Given the description of an element on the screen output the (x, y) to click on. 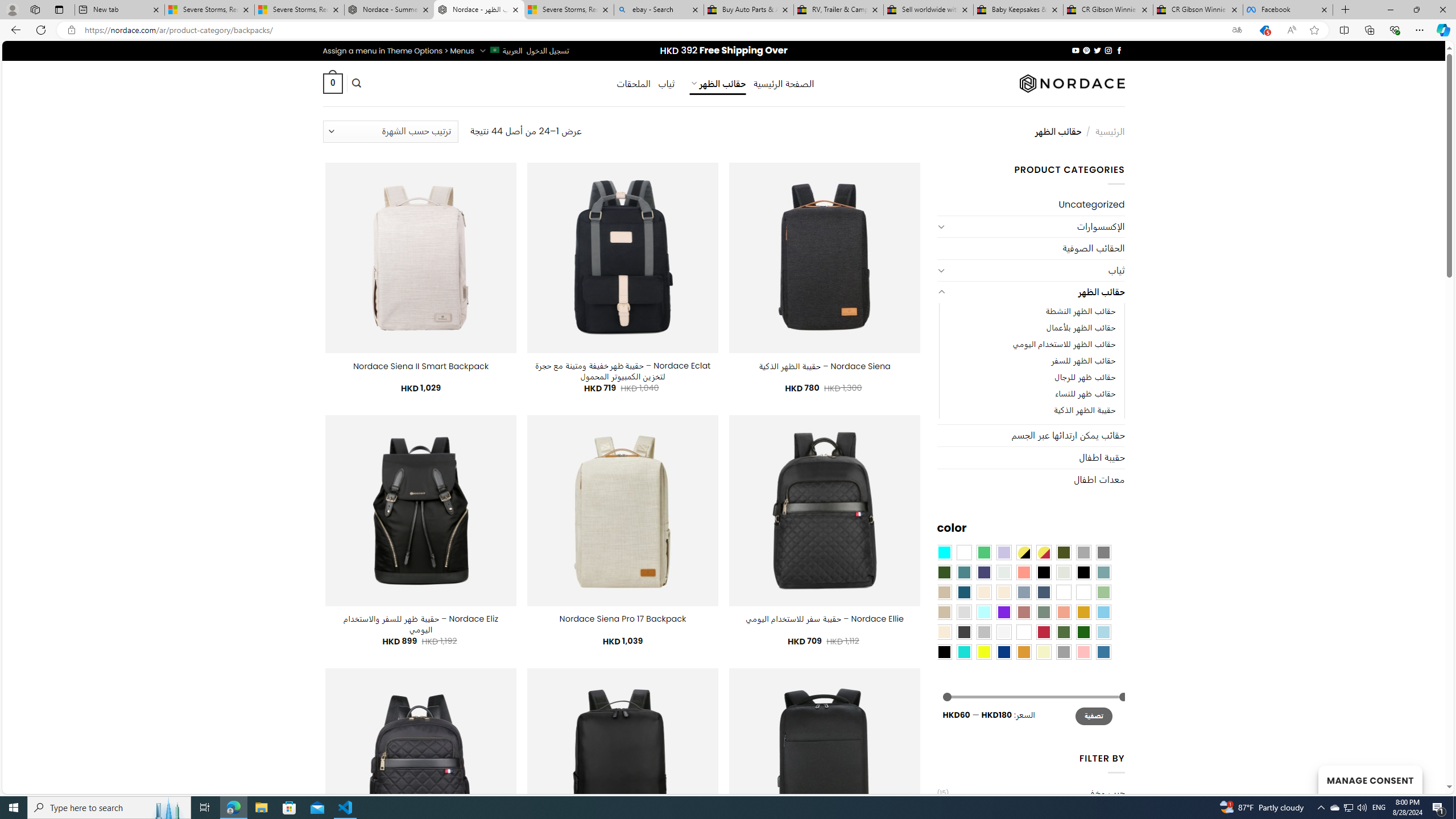
Capri Blue (963, 591)
Brownie (944, 591)
Sell worldwide with eBay (928, 9)
Address and search bar (653, 29)
Baby Keepsakes & Announcements for sale | eBay (1018, 9)
Show translate options (1236, 29)
